Given the description of an element on the screen output the (x, y) to click on. 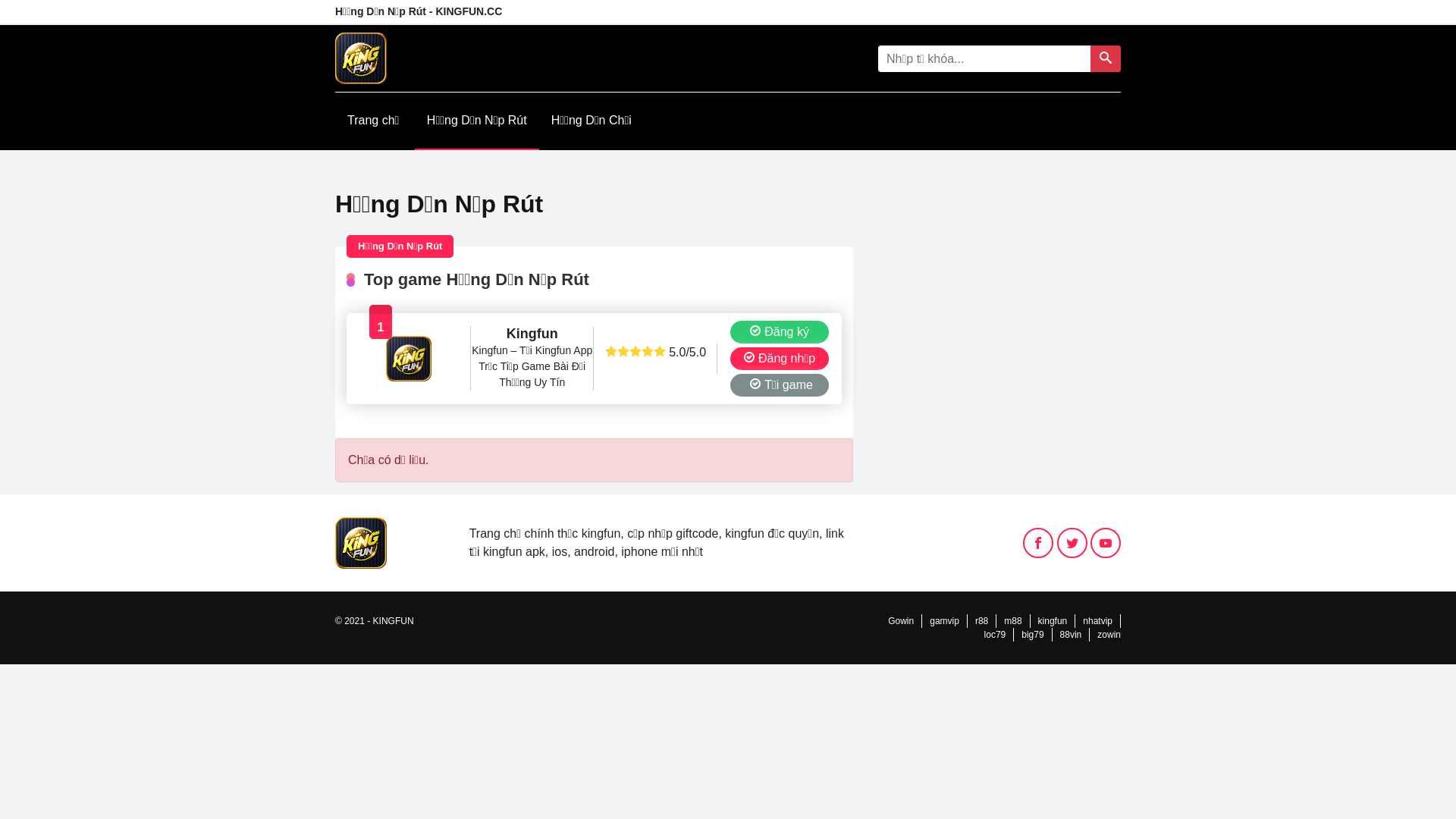
88vin Element type: text (1071, 634)
loc79 Element type: text (995, 634)
KINGFUN Element type: text (393, 620)
r88 Element type: text (981, 620)
KINGFUN Element type: hover (360, 541)
m88 Element type: text (1012, 620)
kingfun Element type: text (1052, 620)
zowin Element type: text (1108, 634)
Gowin Element type: text (900, 620)
big79 Element type: text (1032, 634)
nhatvip Element type: text (1097, 620)
gamvip Element type: text (944, 620)
Kingfun Element type: hover (408, 358)
